Given the description of an element on the screen output the (x, y) to click on. 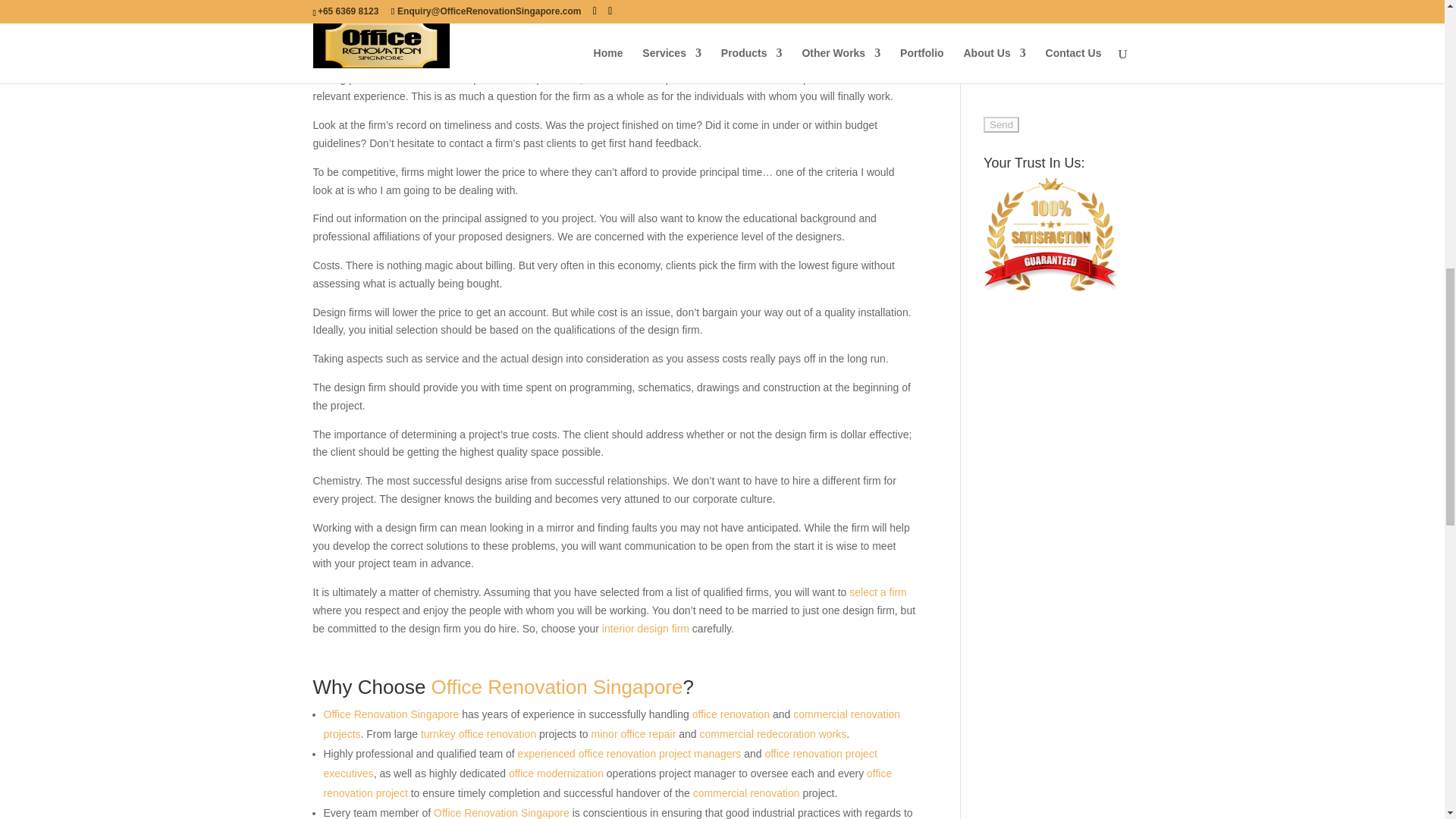
Office Interior Singapore (876, 592)
interior design firm (645, 628)
How to choose an Interior Design Firm in Singapore? (645, 628)
Send (1001, 124)
select a firm (876, 592)
Office Renovation Singapore (556, 686)
